Given the description of an element on the screen output the (x, y) to click on. 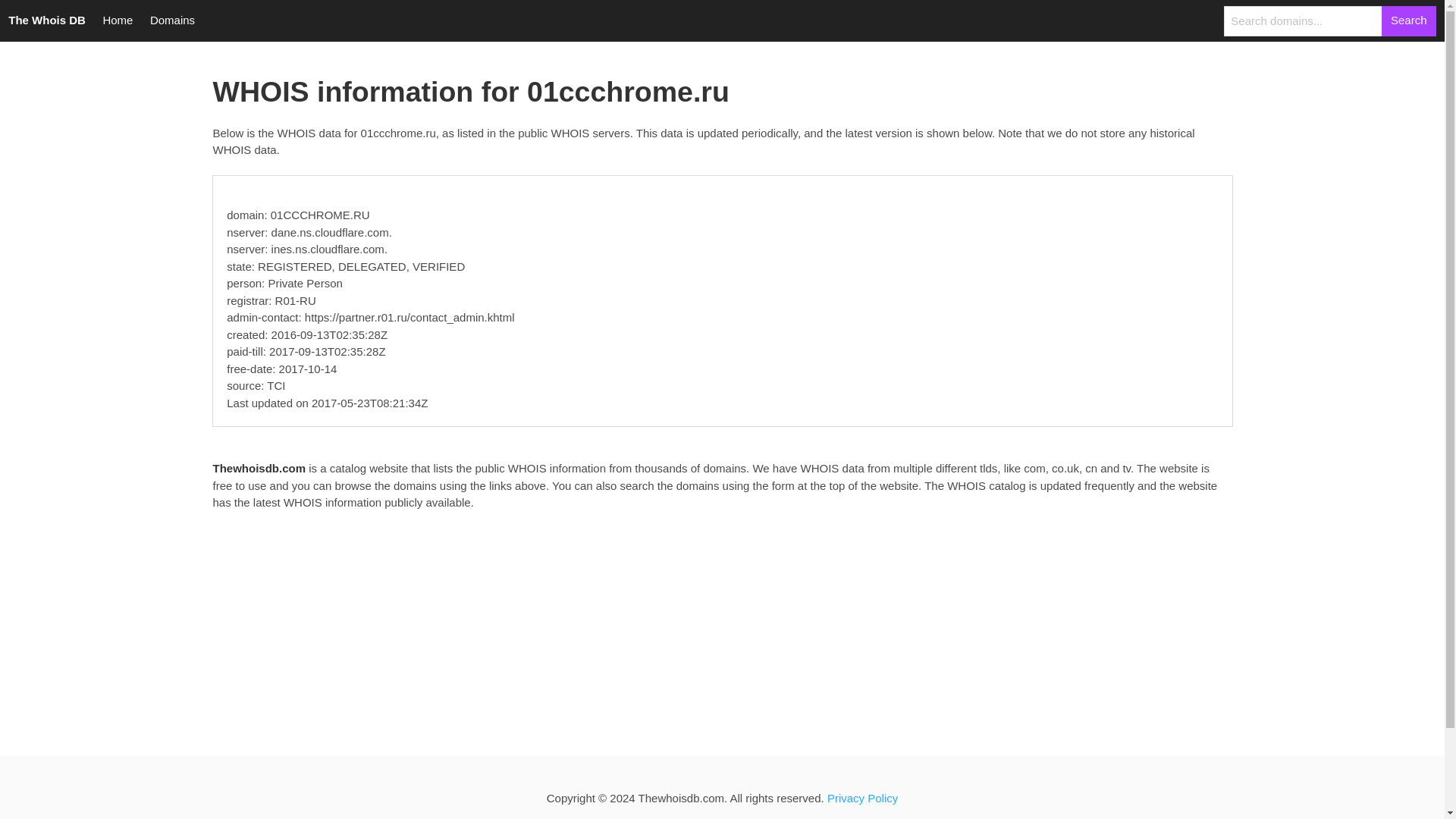
Search (1408, 20)
The Whois DB (47, 20)
Domains (172, 20)
Search (1408, 20)
Privacy Policy (862, 797)
Home (117, 20)
